Given the description of an element on the screen output the (x, y) to click on. 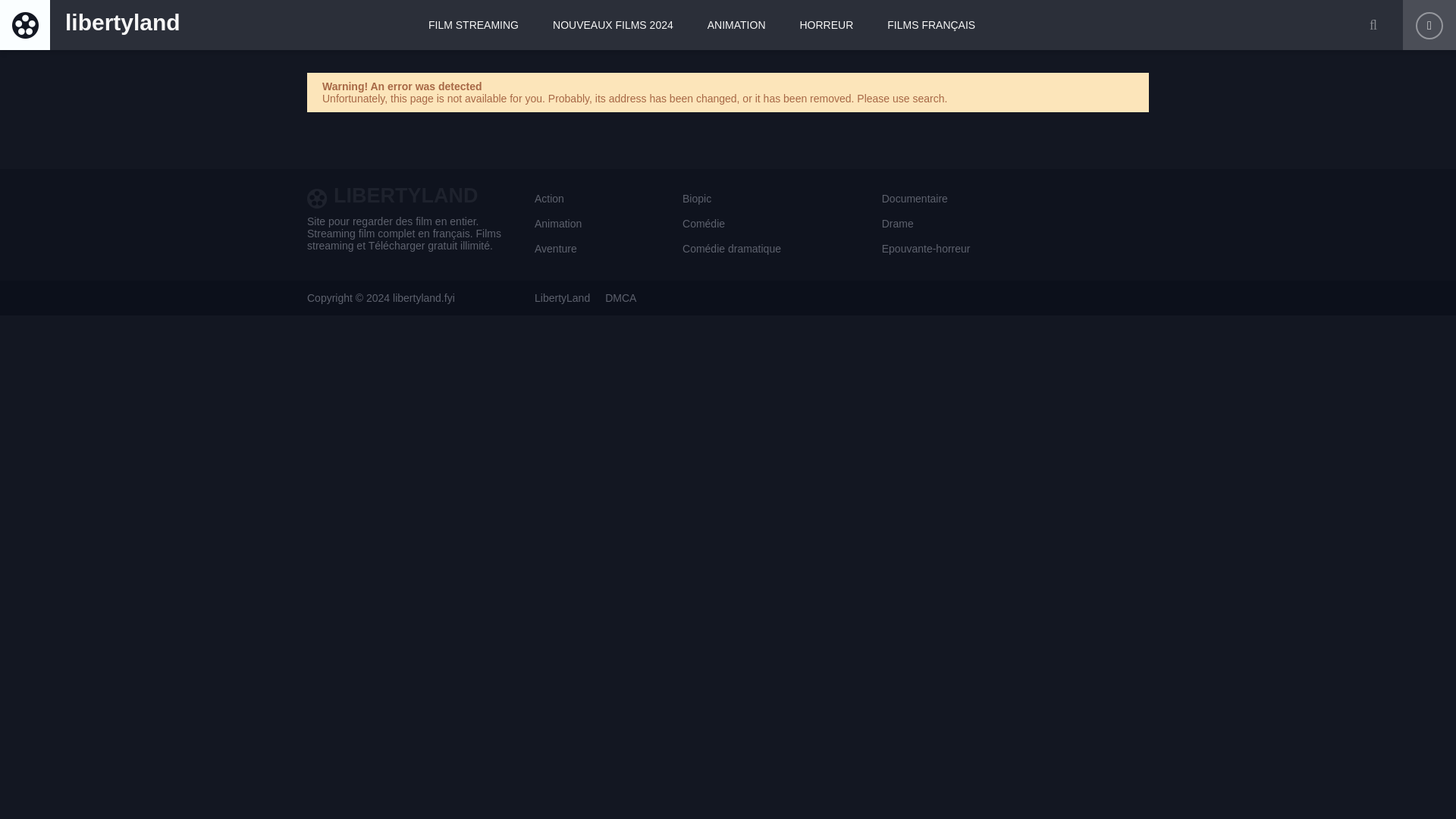
ANIMATION (736, 24)
FILM STREAMING (473, 24)
libertyland (91, 24)
NOUVEAUX FILMS 2024 (612, 24)
